Given the description of an element on the screen output the (x, y) to click on. 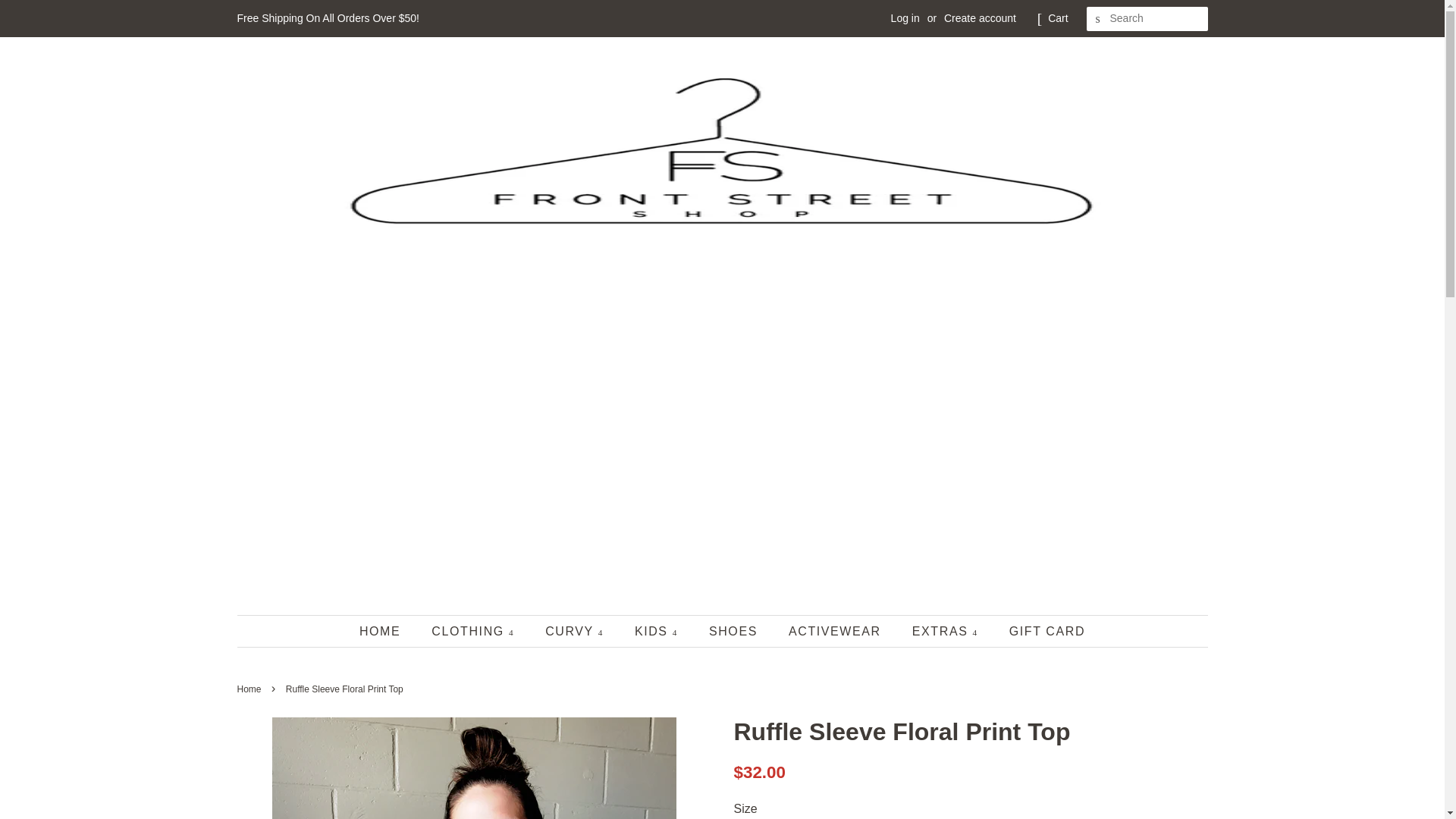
Log in (905, 18)
SEARCH (1097, 18)
Back to the frontpage (249, 688)
Create account (979, 18)
Cart (1057, 18)
